Given the description of an element on the screen output the (x, y) to click on. 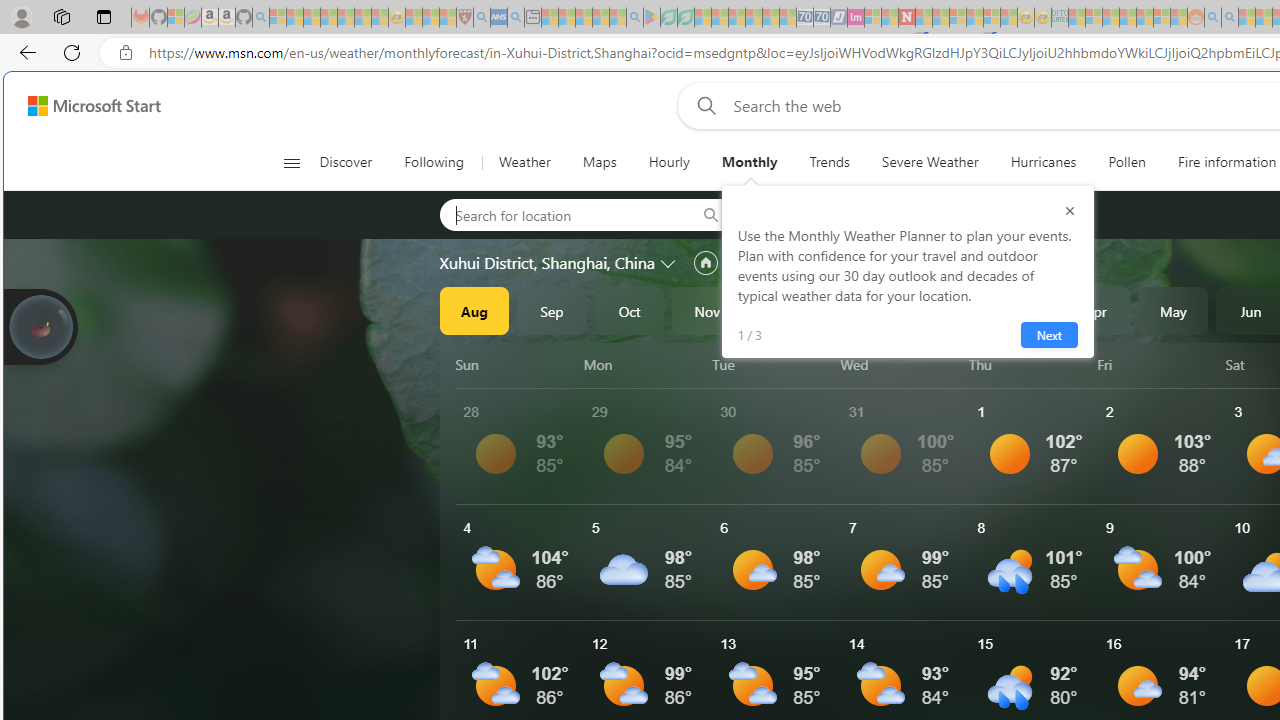
Bluey: Let's Play! - Apps on Google Play - Sleeping (651, 17)
Oct (629, 310)
Severe Weather (930, 162)
Nov (707, 310)
Web search (702, 105)
Terms of Use Agreement - Sleeping (668, 17)
Sep (552, 310)
Open navigation menu (291, 162)
Weather (523, 162)
Aug (474, 310)
